Given the description of an element on the screen output the (x, y) to click on. 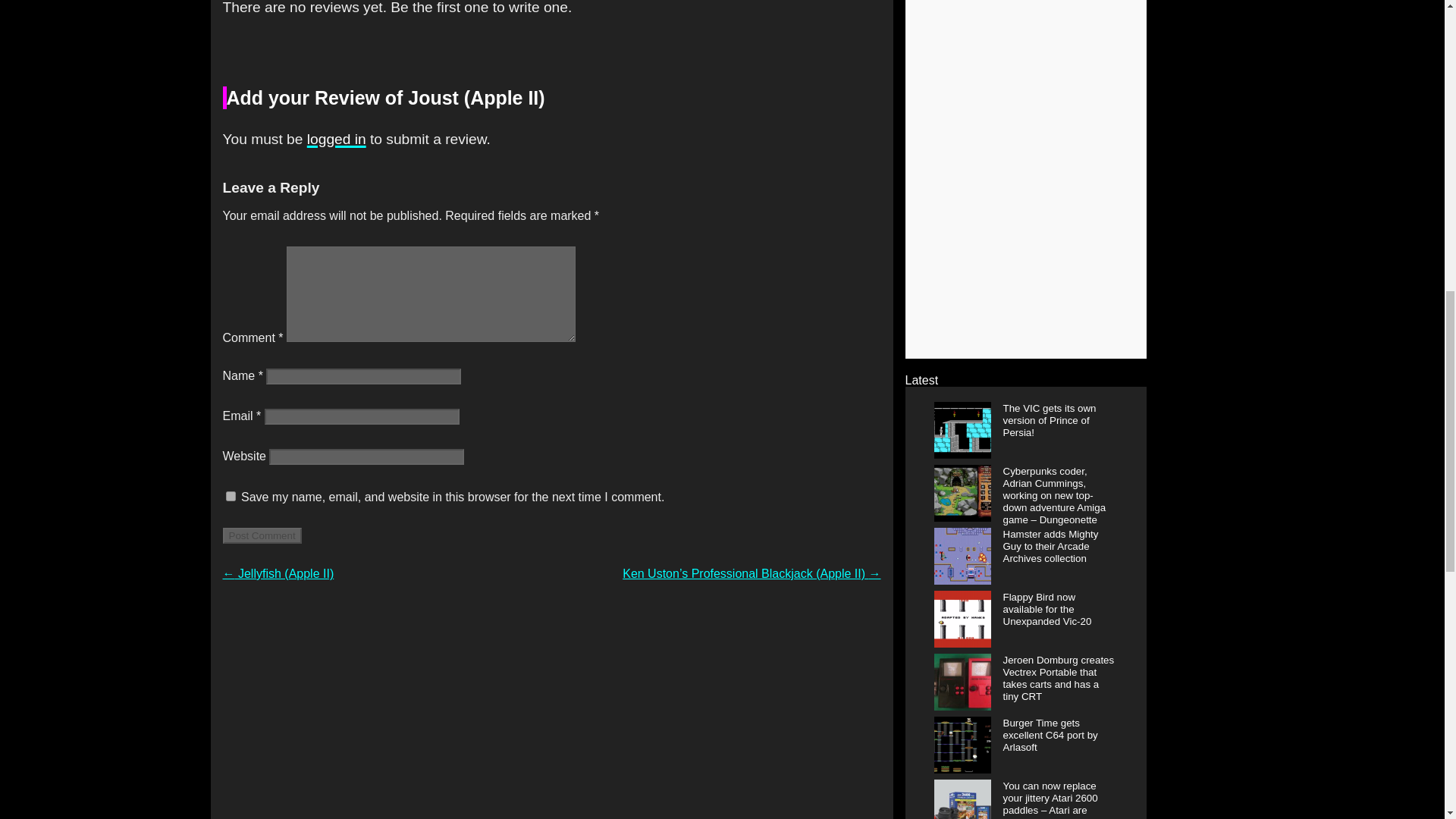
yes (230, 496)
Post Comment (261, 535)
Post Comment (261, 535)
logged in (336, 139)
